Given the description of an element on the screen output the (x, y) to click on. 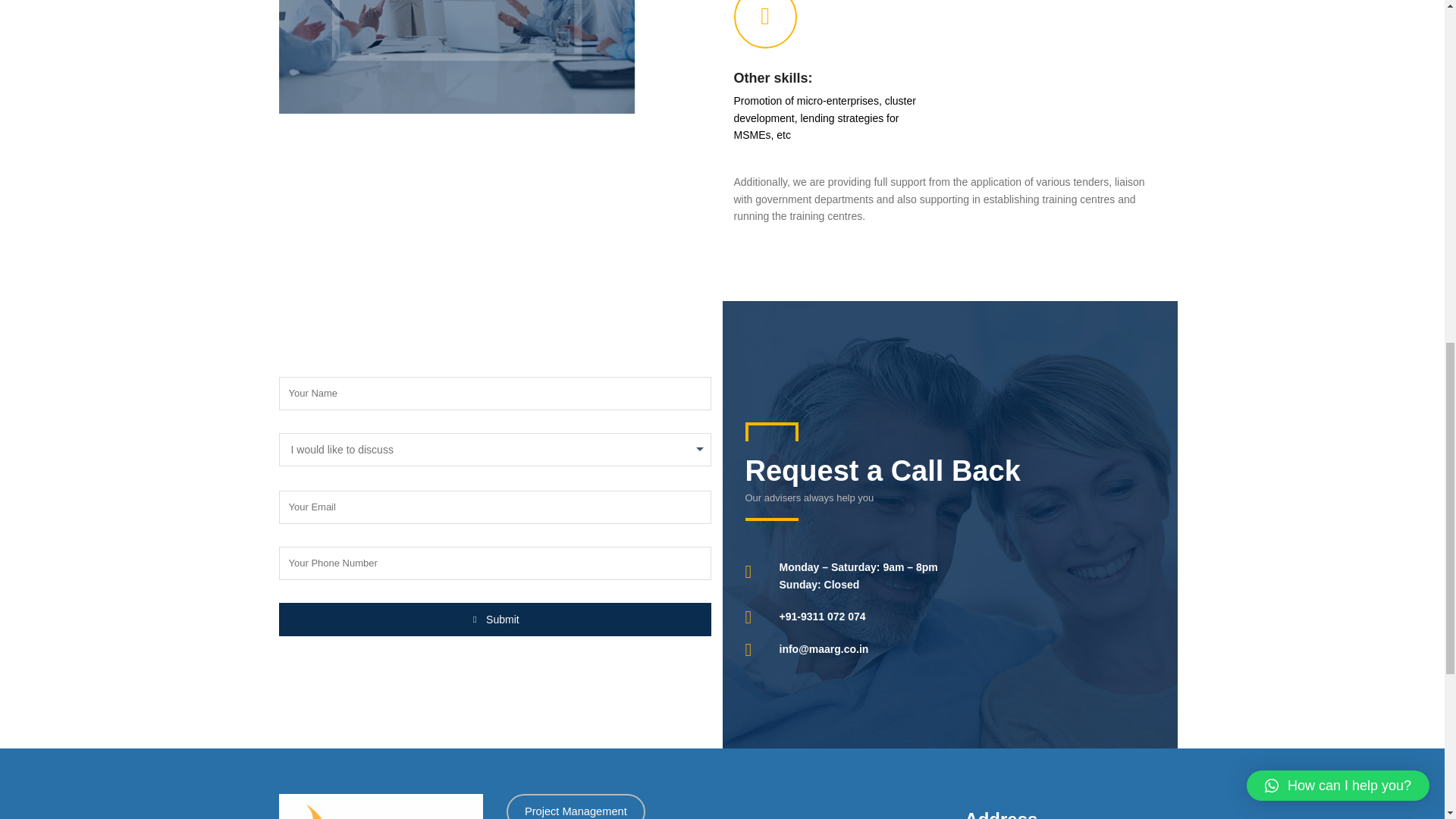
home2-banner-img1 (495, 56)
Project Management (576, 806)
Submit (495, 619)
Submit (495, 619)
